Given the description of an element on the screen output the (x, y) to click on. 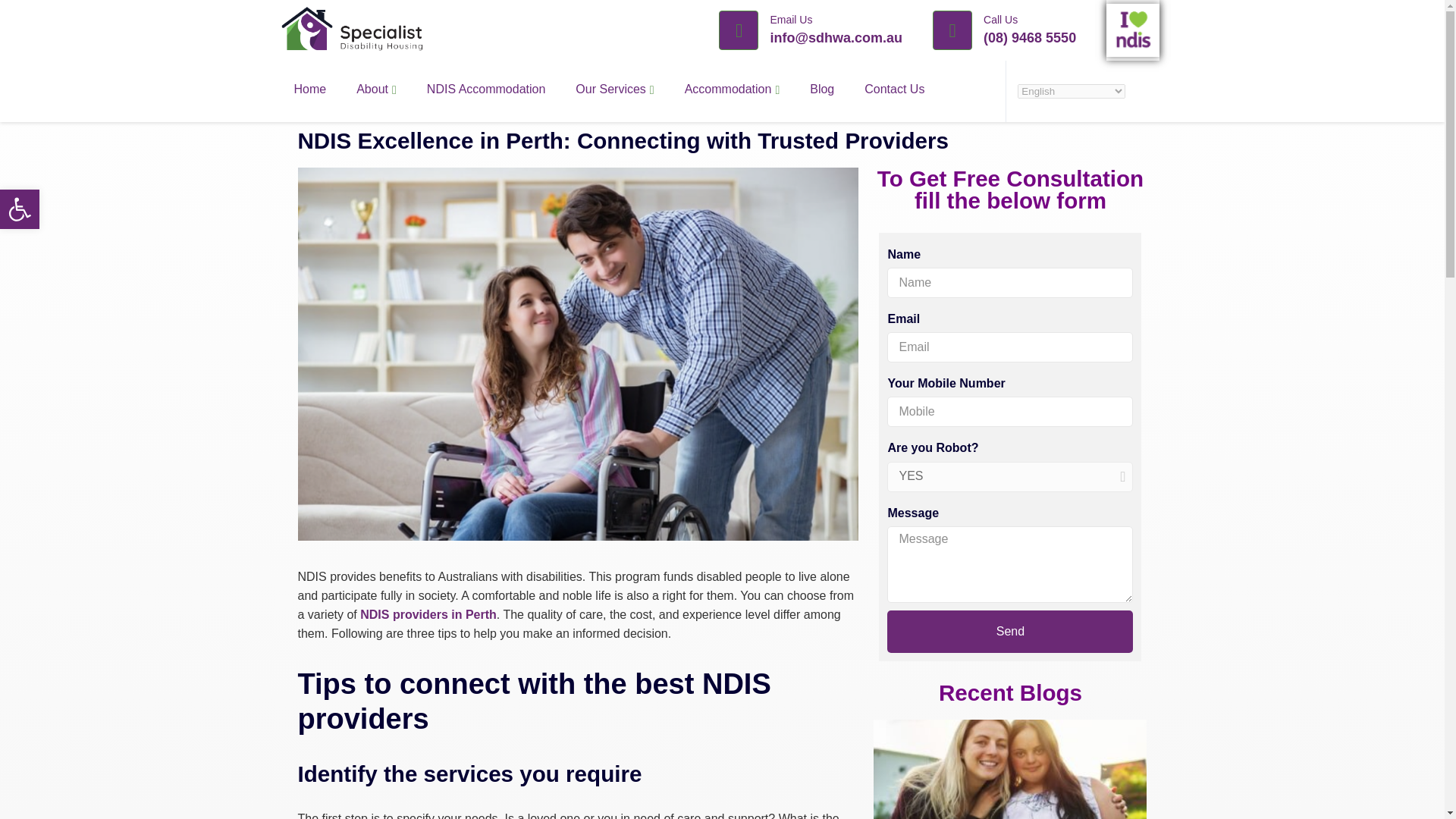
Accommodation (731, 89)
Our Services (614, 89)
Call Us (1000, 19)
Email Us (791, 19)
NDIS Accommodation (486, 89)
Accessibility Tools (19, 209)
Accessibility Tools (19, 209)
About (19, 209)
Home (376, 89)
